Given the description of an element on the screen output the (x, y) to click on. 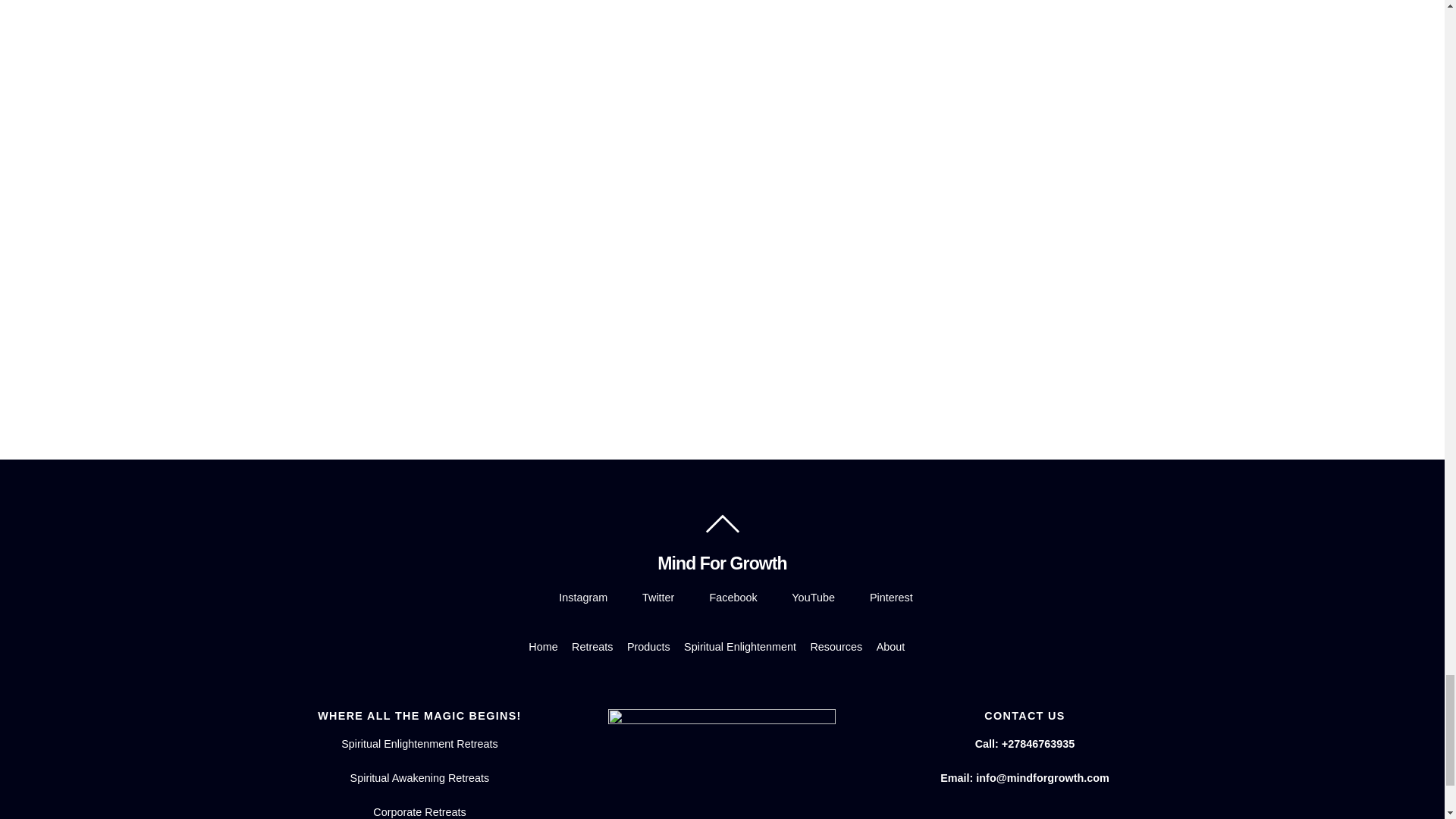
Mind For Growth (722, 563)
